Given the description of an element on the screen output the (x, y) to click on. 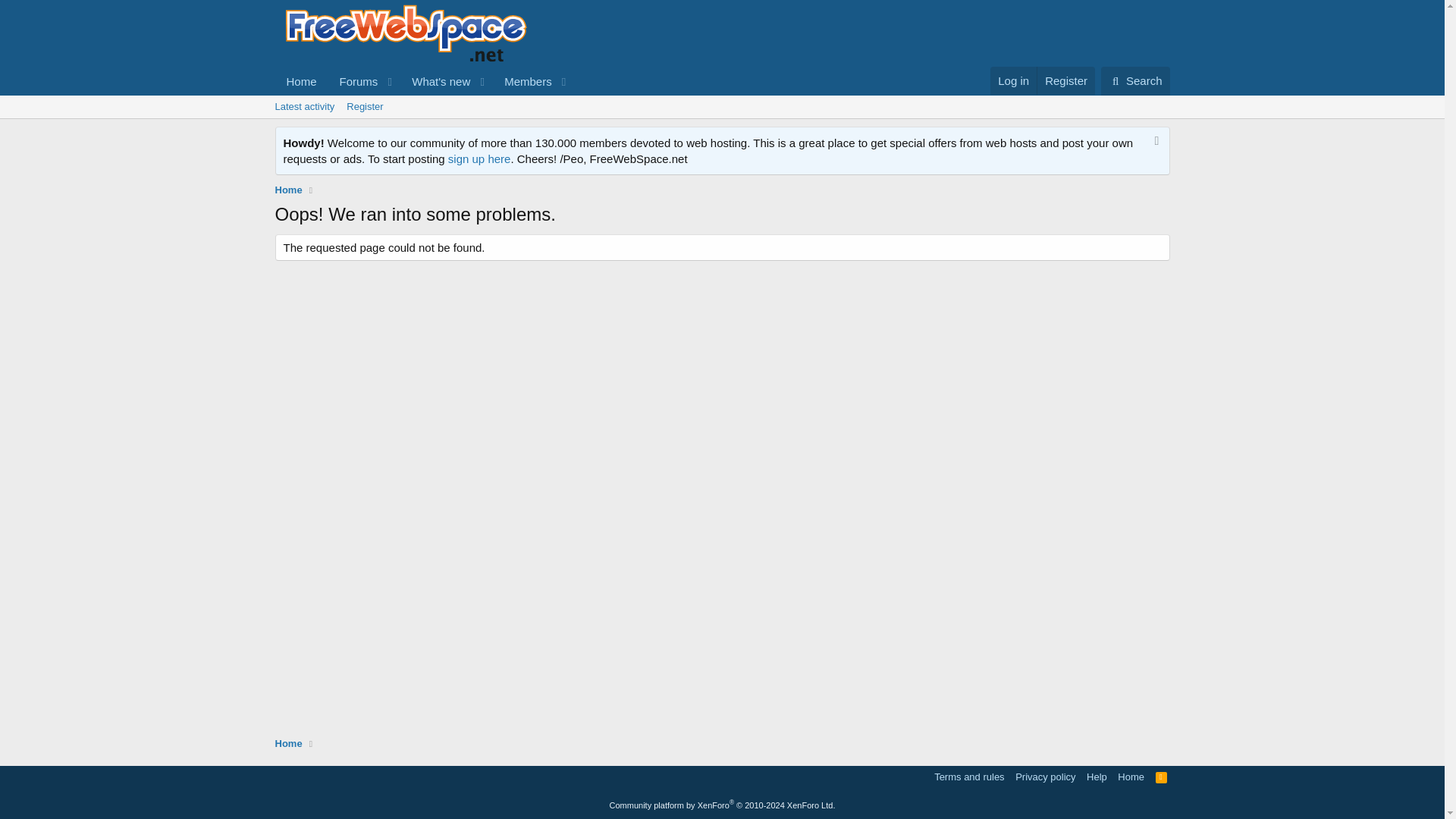
Search (1135, 80)
Home (288, 743)
Home (423, 81)
Home (288, 190)
Search (1131, 776)
RSS (720, 123)
Latest activity (1135, 80)
Forums (1161, 776)
